Given the description of an element on the screen output the (x, y) to click on. 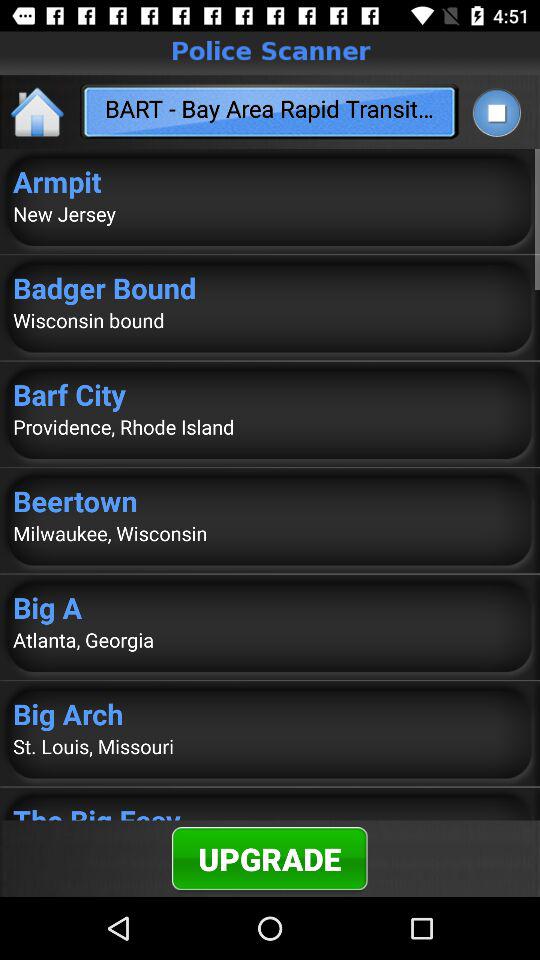
turn off icon at the top left corner (38, 111)
